Given the description of an element on the screen output the (x, y) to click on. 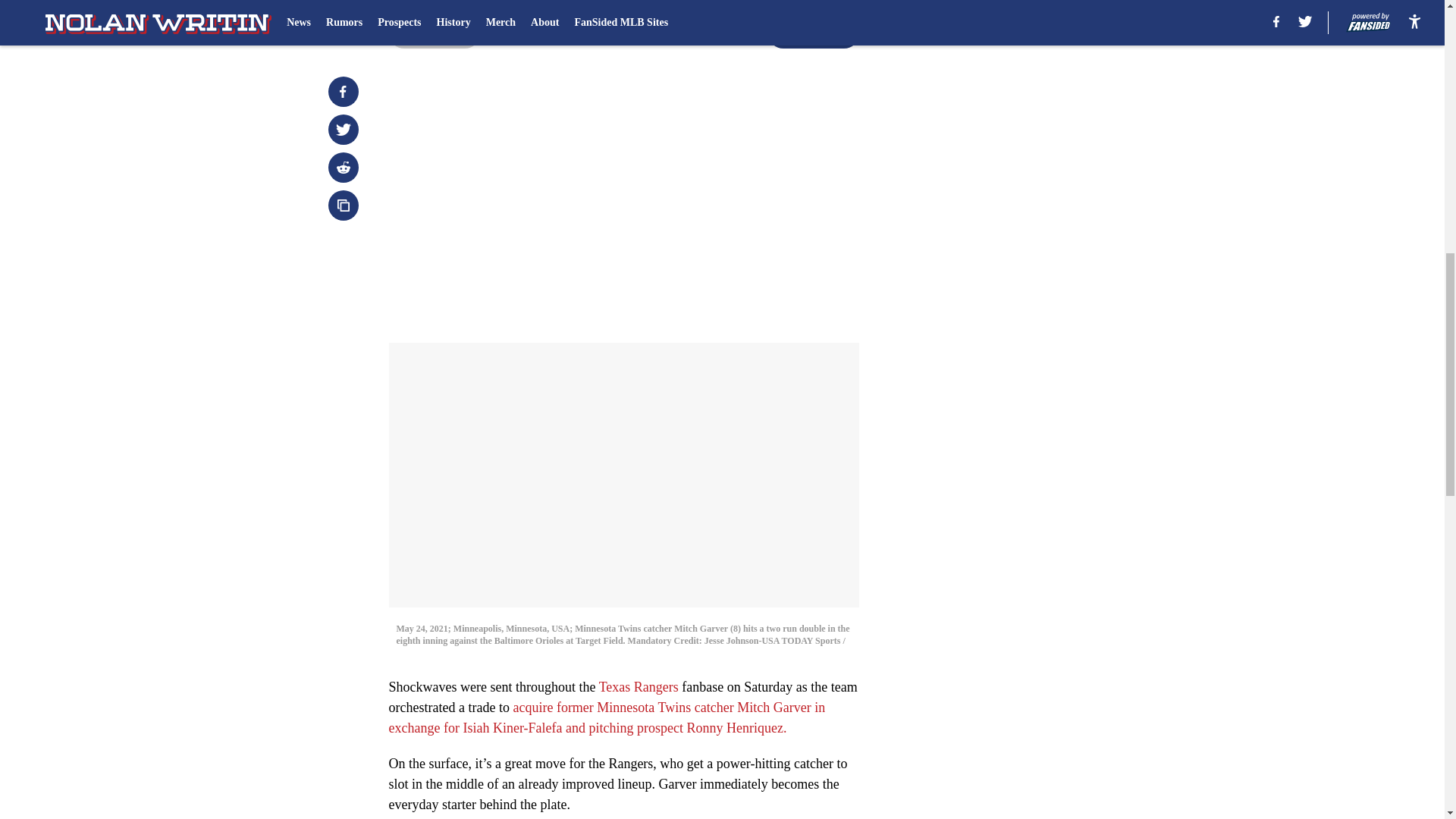
Next (813, 33)
Texas Rangers (638, 686)
Prev (433, 33)
